Given the description of an element on the screen output the (x, y) to click on. 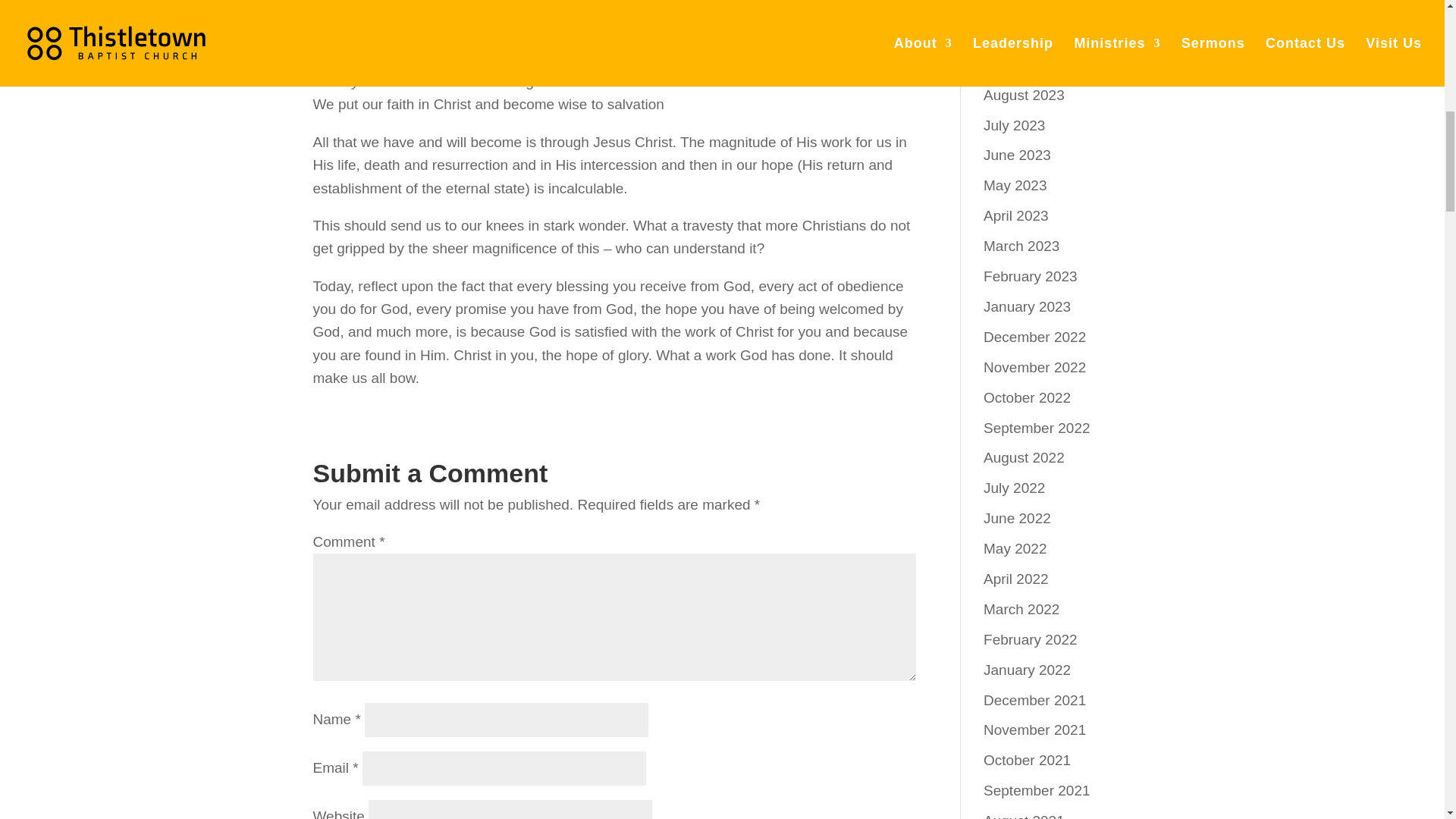
March 2023 (1021, 245)
April 2023 (1016, 215)
July 2023 (1014, 125)
November 2023 (1035, 6)
May 2023 (1015, 185)
August 2023 (1024, 94)
September 2023 (1037, 64)
October 2023 (1027, 34)
June 2023 (1017, 154)
